Given the description of an element on the screen output the (x, y) to click on. 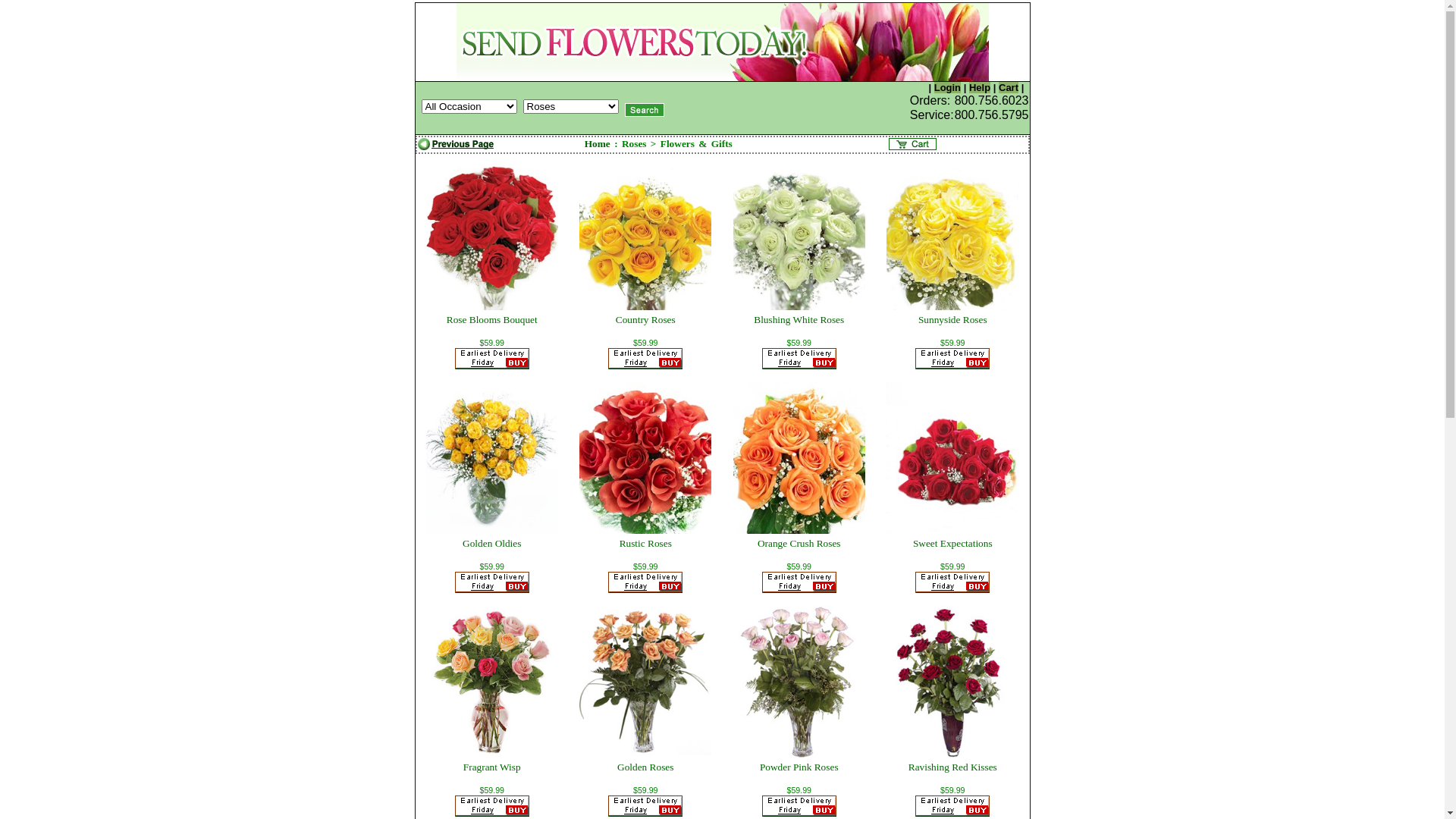
Sweet Expectations Element type: text (952, 543)
Rustic Roses Element type: text (645, 543)
Orange Crush Roses Element type: text (798, 543)
Sunnyside Roses Element type: text (952, 319)
Ravishing Red Kisses Element type: text (952, 766)
Country Roses Element type: text (645, 319)
Home Element type: text (597, 143)
Help Element type: text (979, 87)
Login Element type: text (947, 87)
Fragrant Wisp Element type: text (491, 766)
Golden Roses Element type: text (645, 766)
Blushing White Roses Element type: text (798, 319)
Cart Element type: text (1008, 87)
Powder Pink Roses Element type: text (798, 766)
Golden Oldies Element type: text (491, 543)
Rose Blooms Bouquet Element type: text (491, 319)
